Given the description of an element on the screen output the (x, y) to click on. 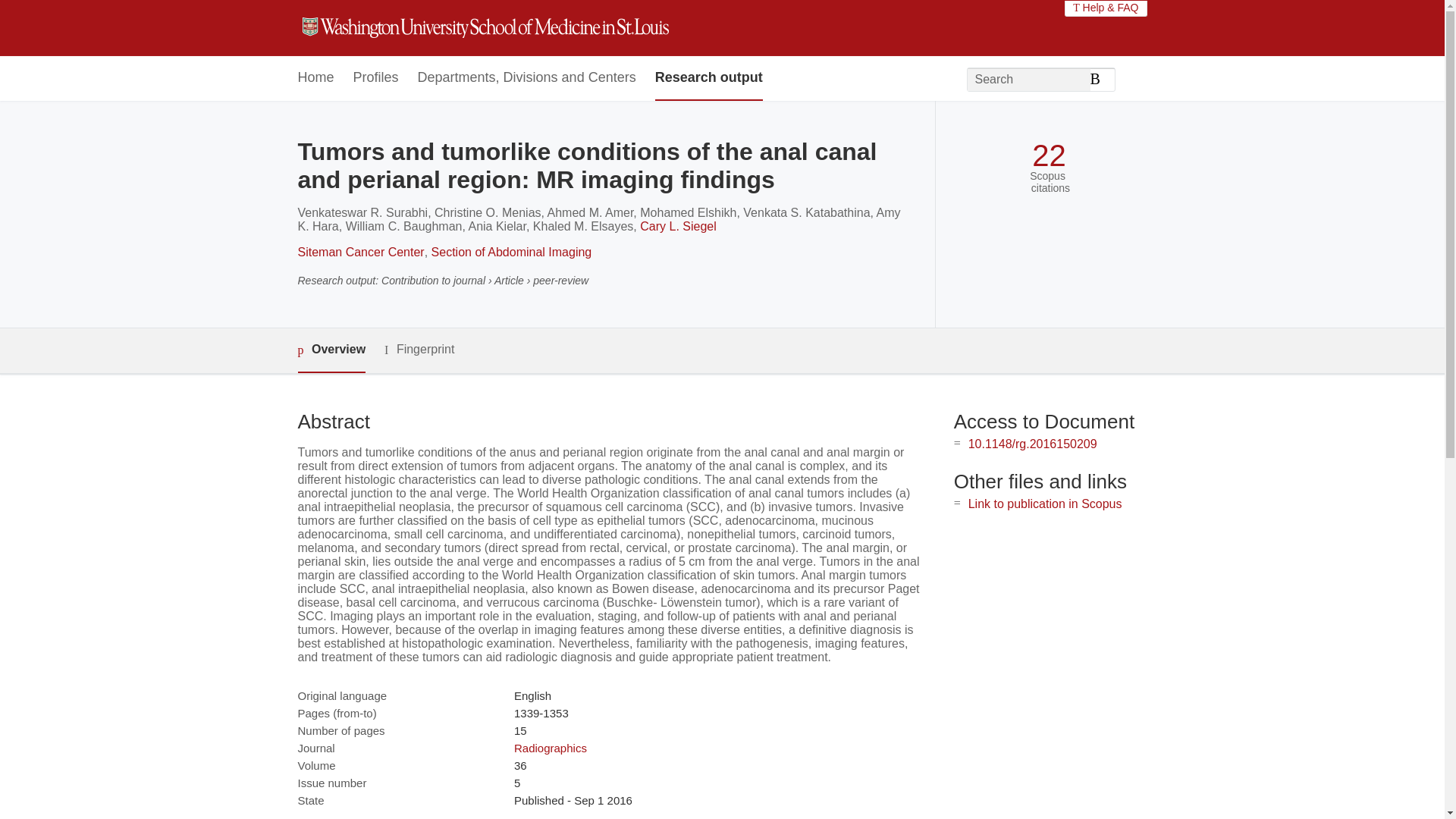
Cary L. Siegel (678, 226)
22 (1048, 155)
Departments, Divisions and Centers (526, 78)
Overview (331, 350)
Radiographics (549, 748)
Profiles (375, 78)
Link to publication in Scopus (1045, 503)
Research output (708, 78)
Section of Abdominal Imaging (511, 251)
Fingerprint (419, 349)
Siteman Cancer Center (360, 251)
